Given the description of an element on the screen output the (x, y) to click on. 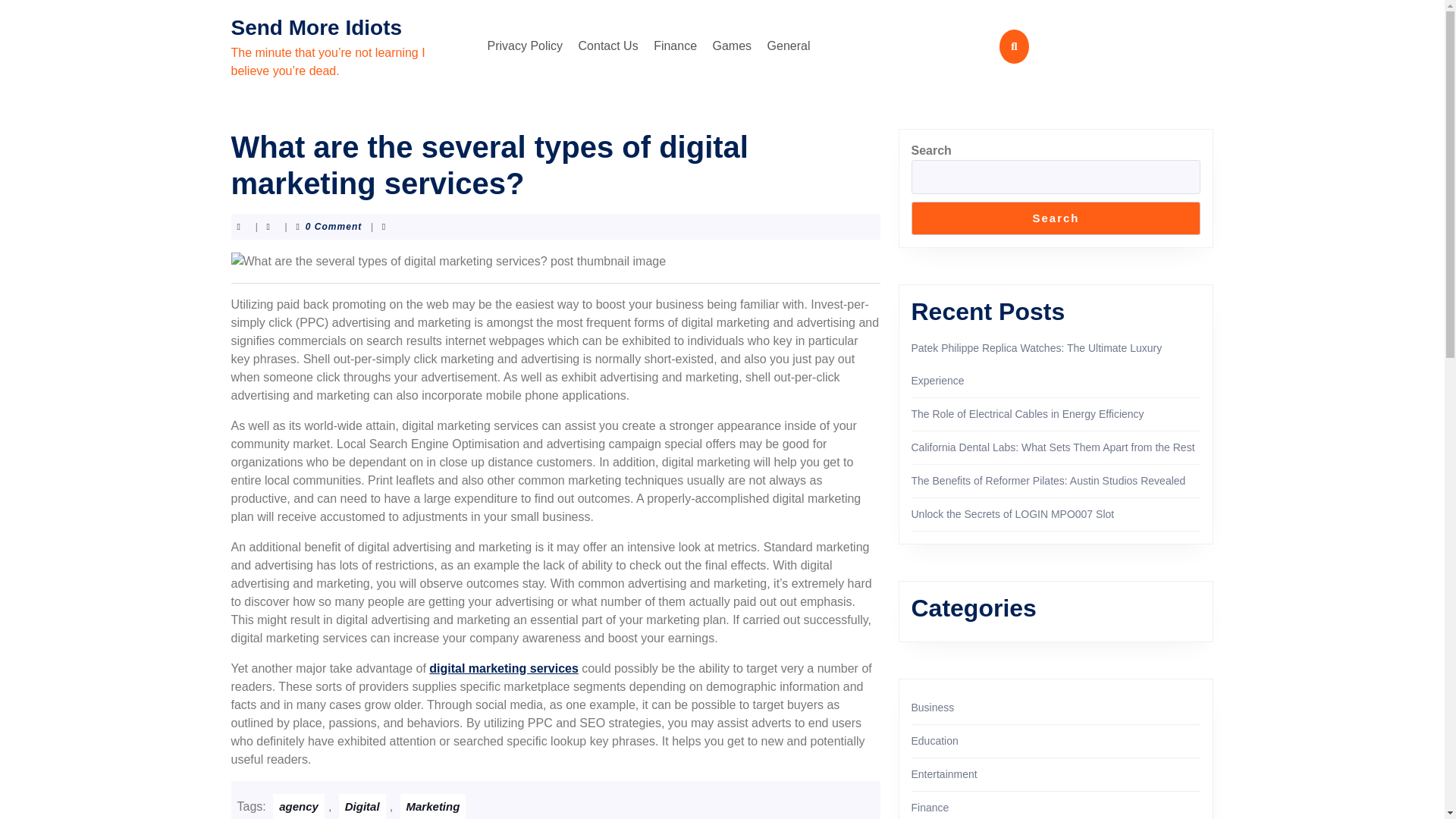
agency (298, 806)
Entertainment (943, 774)
The Benefits of Reformer Pilates: Austin Studios Revealed (1048, 480)
The Role of Electrical Cables in Energy Efficiency (1027, 413)
Education (934, 740)
Search (1056, 218)
California Dental Labs: What Sets Them Apart from the Rest (1053, 447)
Digital (362, 806)
digital marketing services (503, 667)
Contact Us (608, 46)
